Given the description of an element on the screen output the (x, y) to click on. 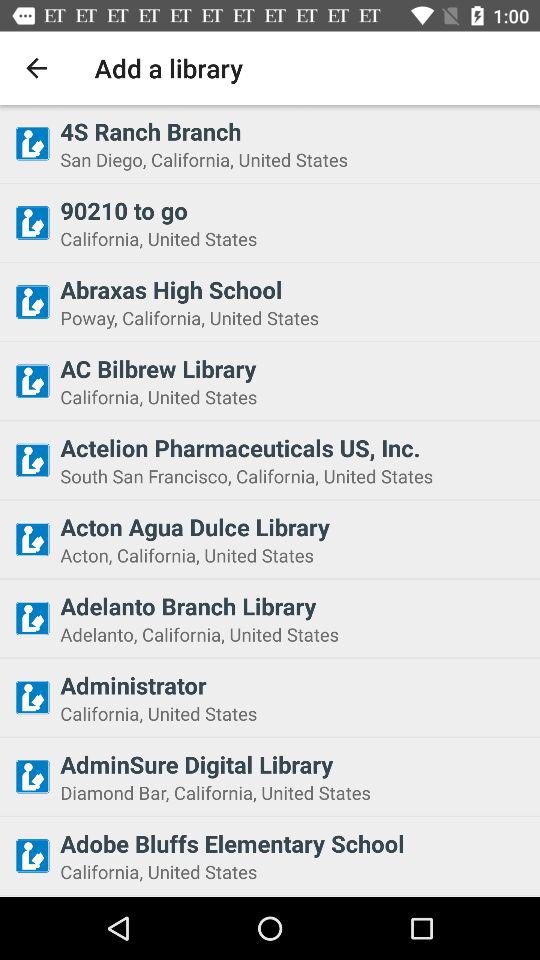
turn off the item above the diamond bar california (294, 764)
